Given the description of an element on the screen output the (x, y) to click on. 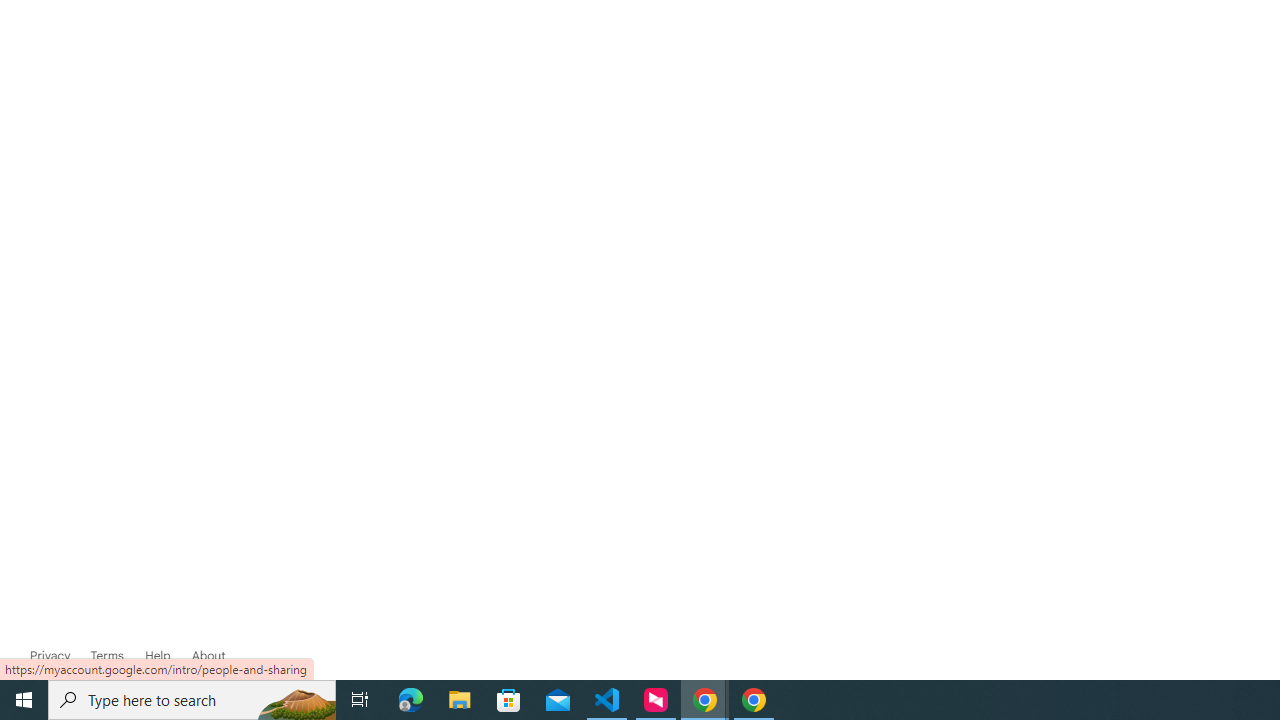
Learn more about Google Account (208, 655)
